Given the description of an element on the screen output the (x, y) to click on. 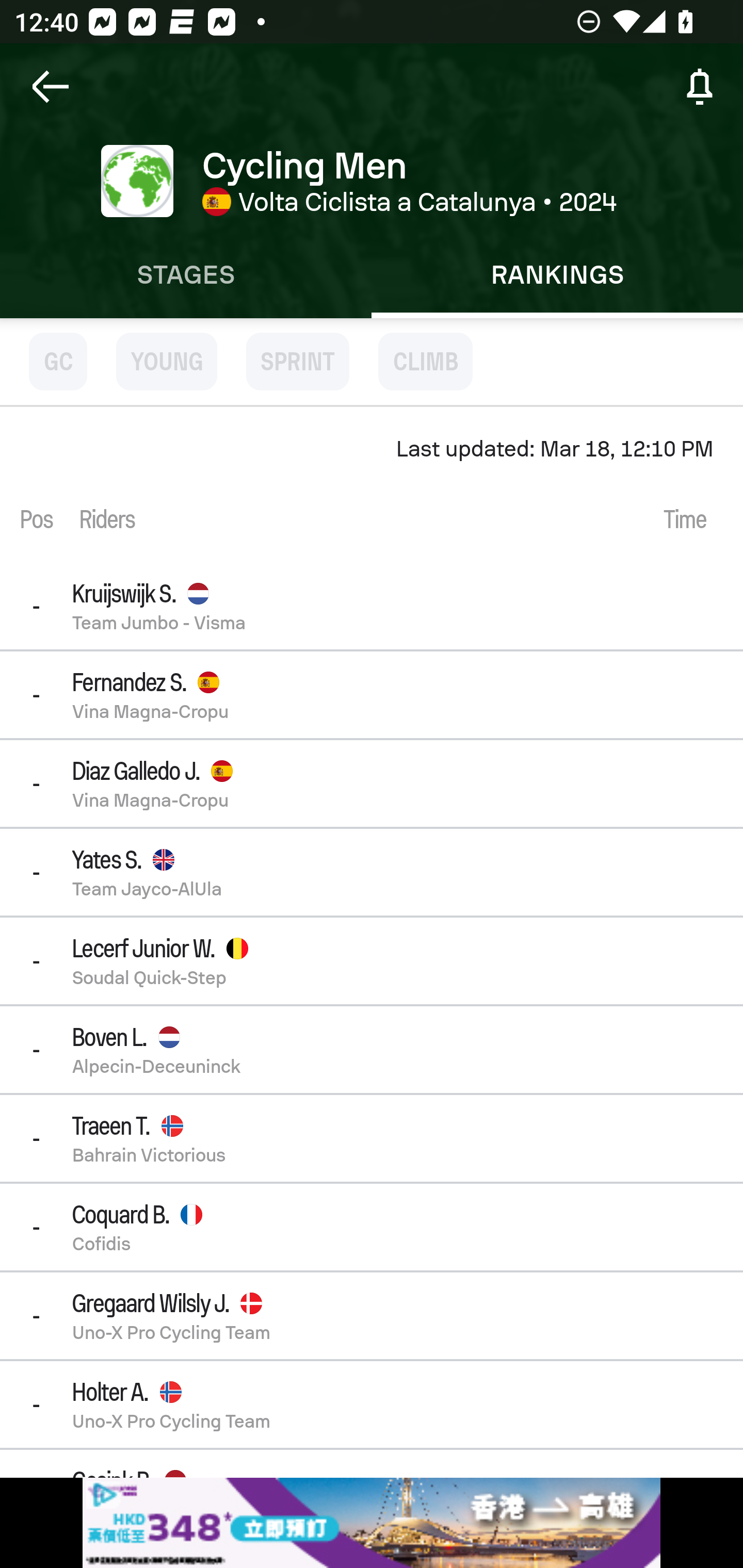
Navigate up (50, 86)
Stages STAGES (185, 275)
Last updated: Mar 18, 12:10 PM Pos Riders Time (371, 484)
- Kruijswijk S. Team Jumbo - Visma (371, 605)
- Fernandez S. Vina Magna-Cropu (371, 694)
- Diaz Galledo J. Vina Magna-Cropu (371, 783)
- Yates S. Team Jayco-AlUla (371, 872)
- Lecerf Junior W. Soudal Quick-Step (371, 960)
- Boven L. Alpecin-Deceuninck (371, 1049)
- Traeen T. Bahrain Victorious (371, 1138)
- Coquard B. Cofidis (371, 1226)
- Gregaard Wilsly J. Uno-X Pro Cycling Team (371, 1316)
- Holter A. Uno-X Pro Cycling Team (371, 1404)
2ph9hx2a_320x50 (371, 1522)
